Given the description of an element on the screen output the (x, y) to click on. 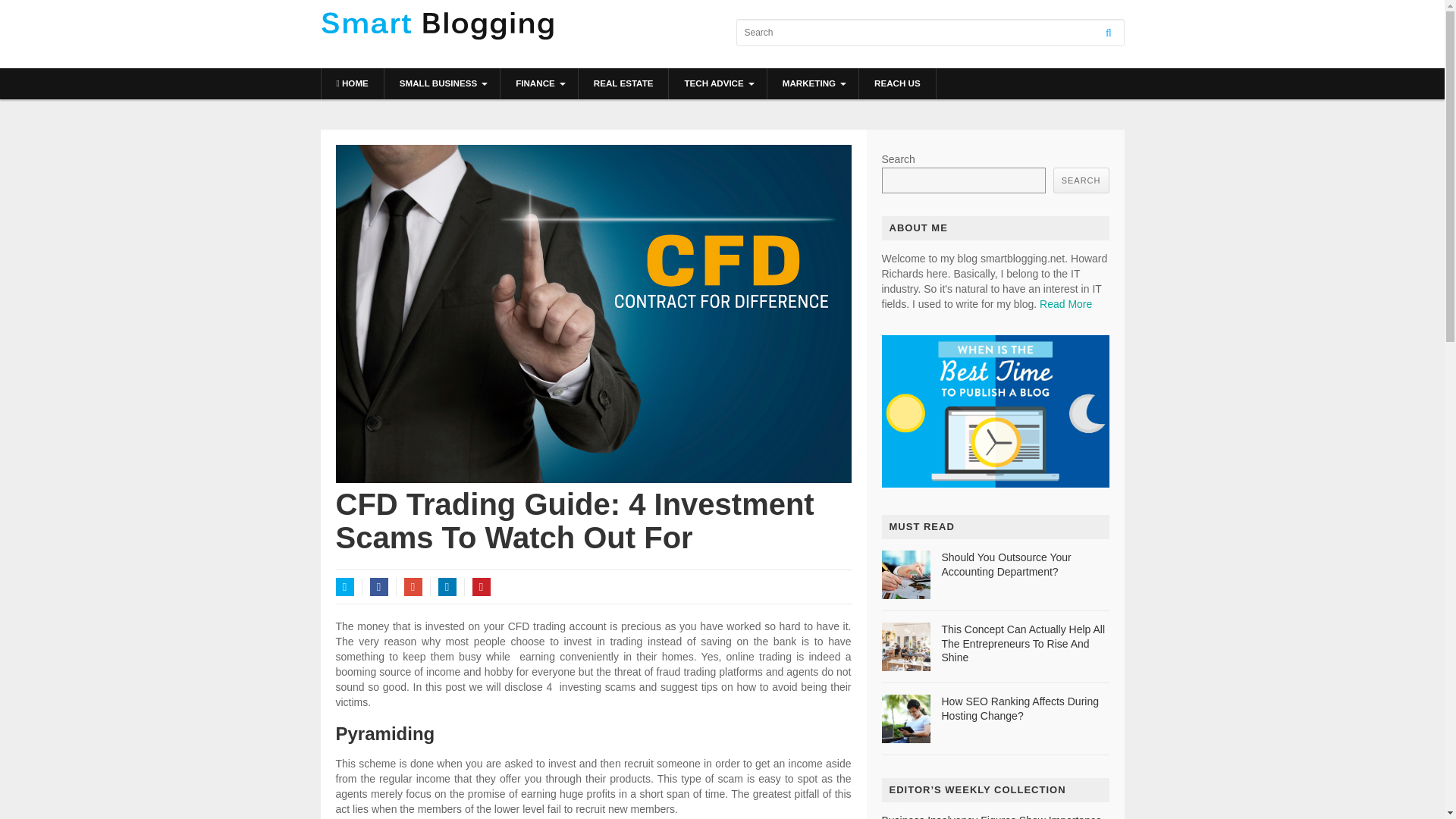
HOME (352, 83)
FINANCE (539, 83)
Find Now (994, 483)
SMALL BUSINESS (441, 83)
